Given the description of an element on the screen output the (x, y) to click on. 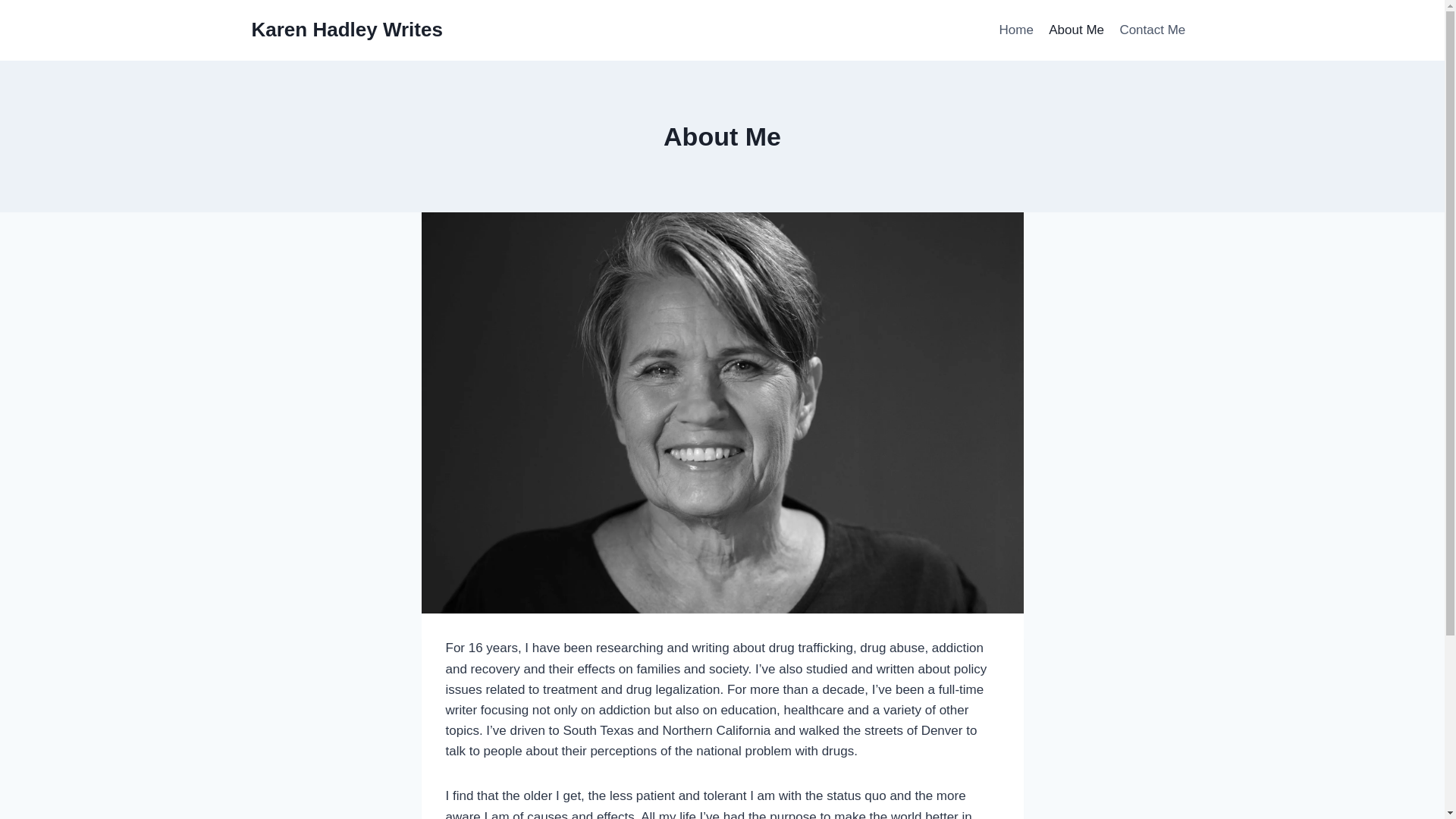
Karen Hadley Writes (346, 29)
About Me (1076, 30)
Contact Me (1152, 30)
Home (1016, 30)
